Given the description of an element on the screen output the (x, y) to click on. 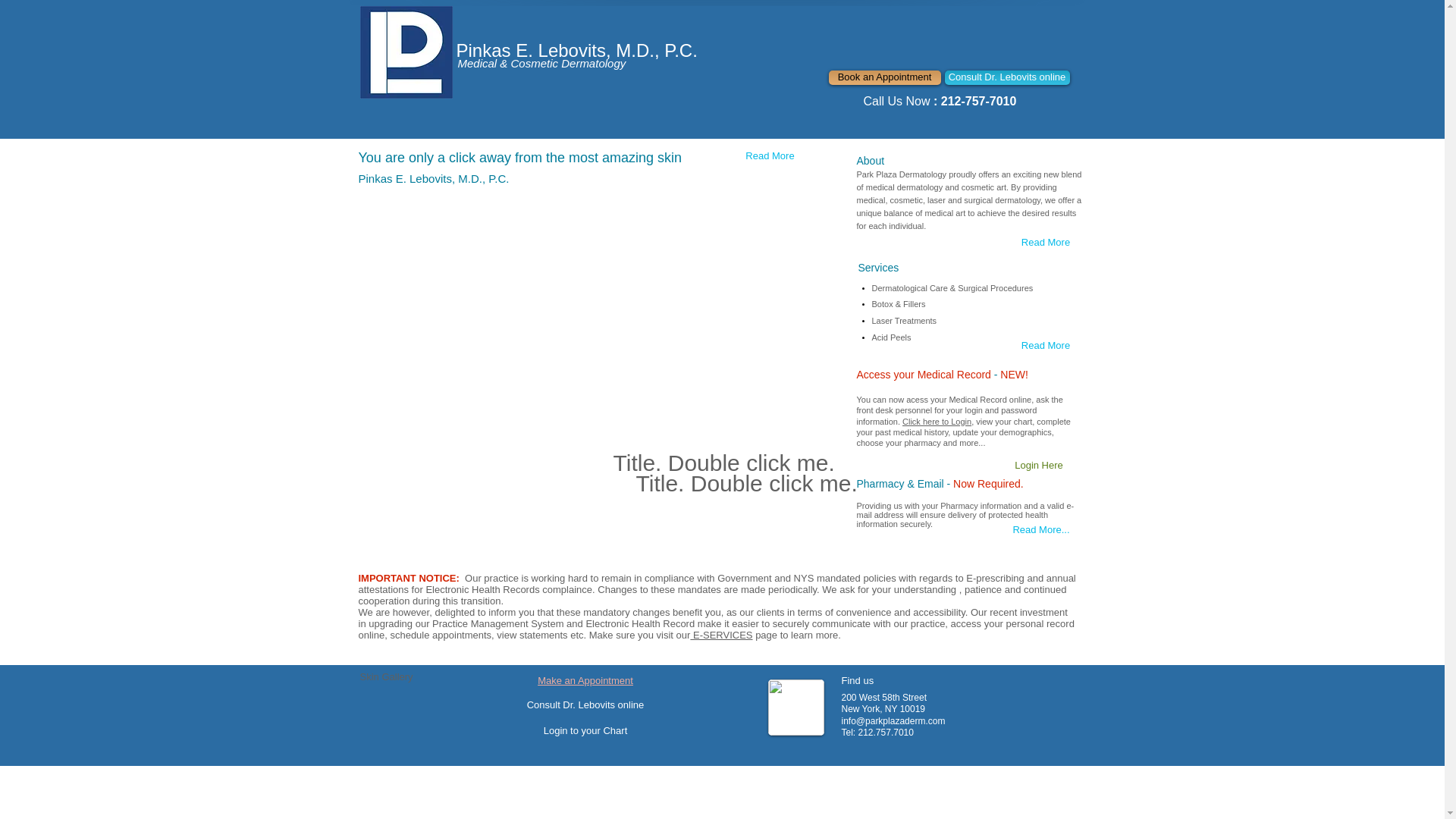
most amazing skin (622, 157)
Consult Dr. Lebovits online (1007, 77)
Read More (1045, 242)
Consult Dr. Lebovits online (585, 705)
Read More (770, 157)
Book an Appointment (884, 77)
Login Here (1038, 465)
Login to your Chart (585, 730)
Click here to Login (936, 420)
E-SERVICES (721, 634)
